Given the description of an element on the screen output the (x, y) to click on. 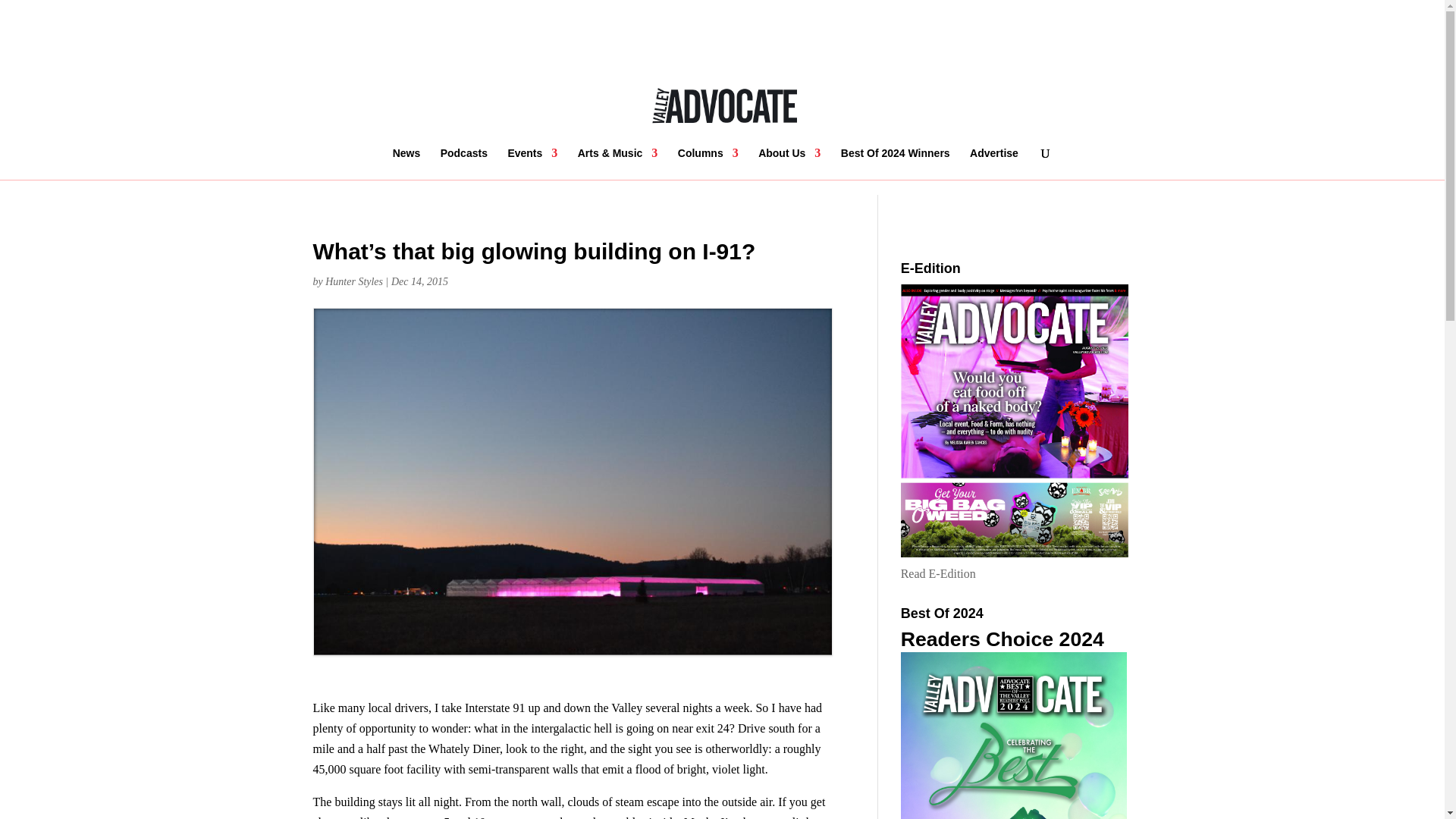
About Us (789, 163)
Events (531, 163)
Columns (708, 163)
Advertise (993, 163)
Podcasts (464, 163)
Posts by Hunter Styles (353, 281)
Best Of 2024 Winners (895, 163)
